Given the description of an element on the screen output the (x, y) to click on. 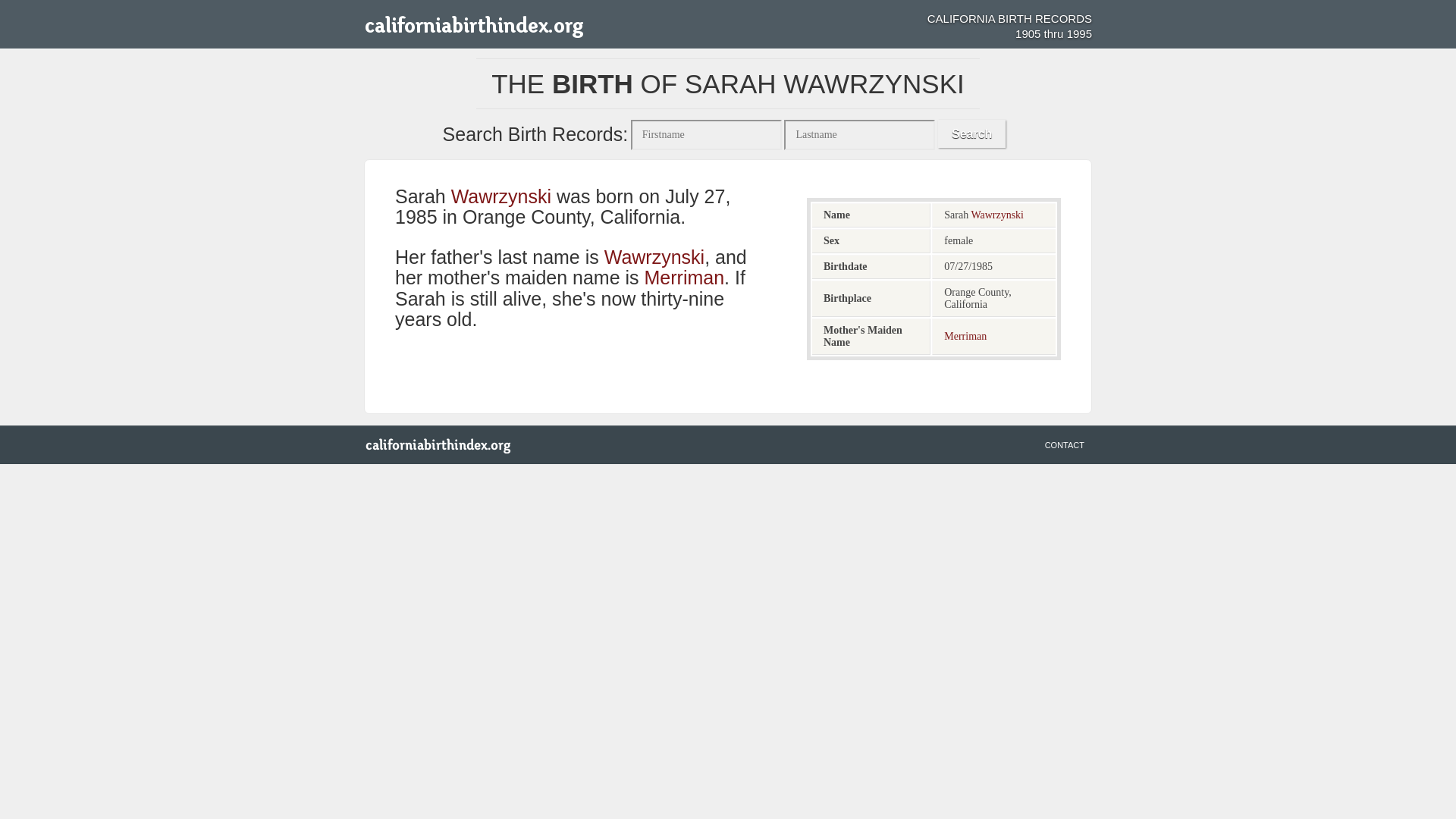
Wawrzynski (654, 255)
Merriman (965, 336)
Merriman (685, 277)
Search (971, 133)
Wawrzynski (501, 195)
CONTACT (1064, 443)
Wawrzynski (997, 214)
Search (971, 133)
